Given the description of an element on the screen output the (x, y) to click on. 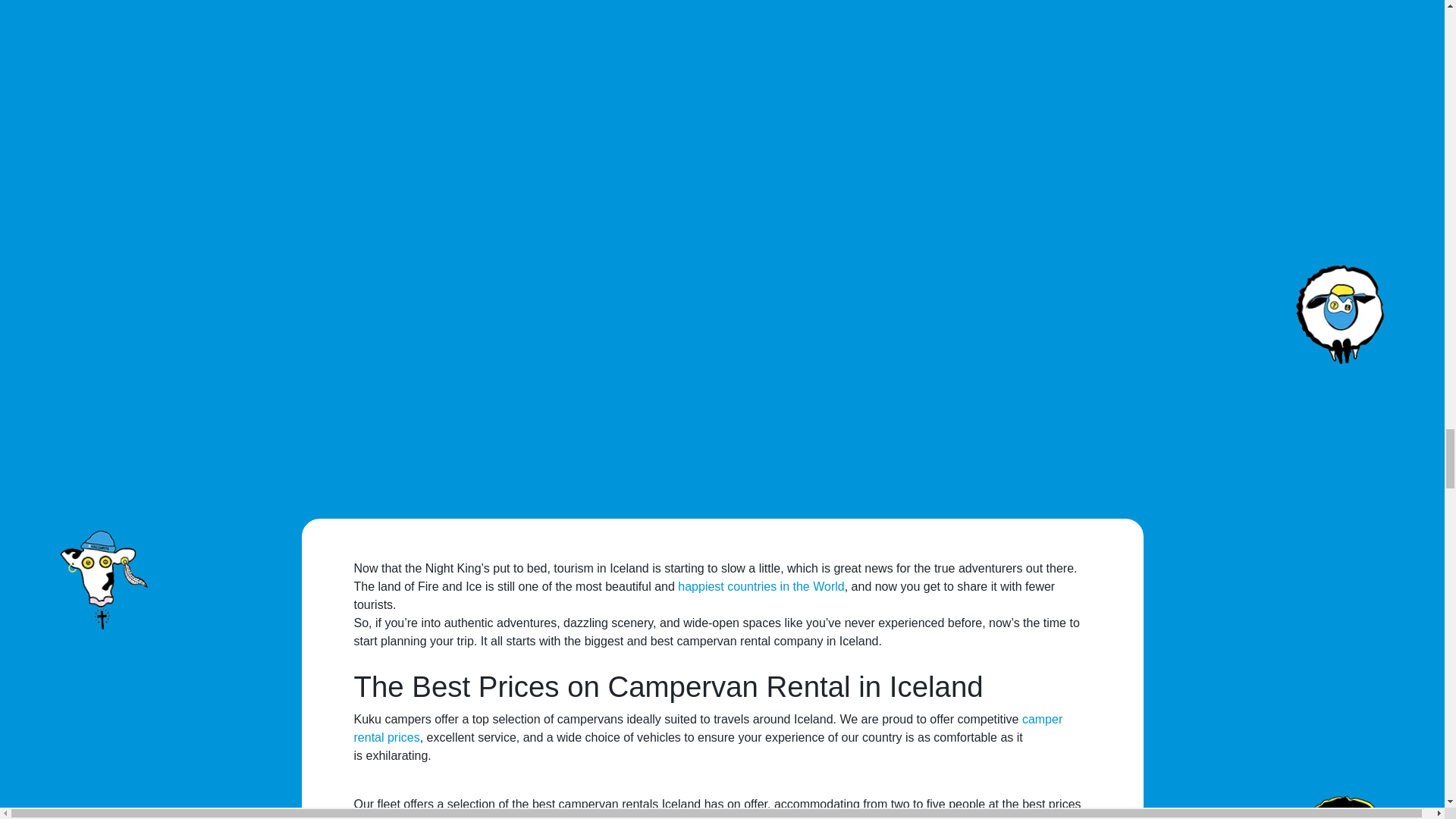
Camper rental prices (707, 727)
Iceland one of the happiest countries in the world (761, 585)
